Given the description of an element on the screen output the (x, y) to click on. 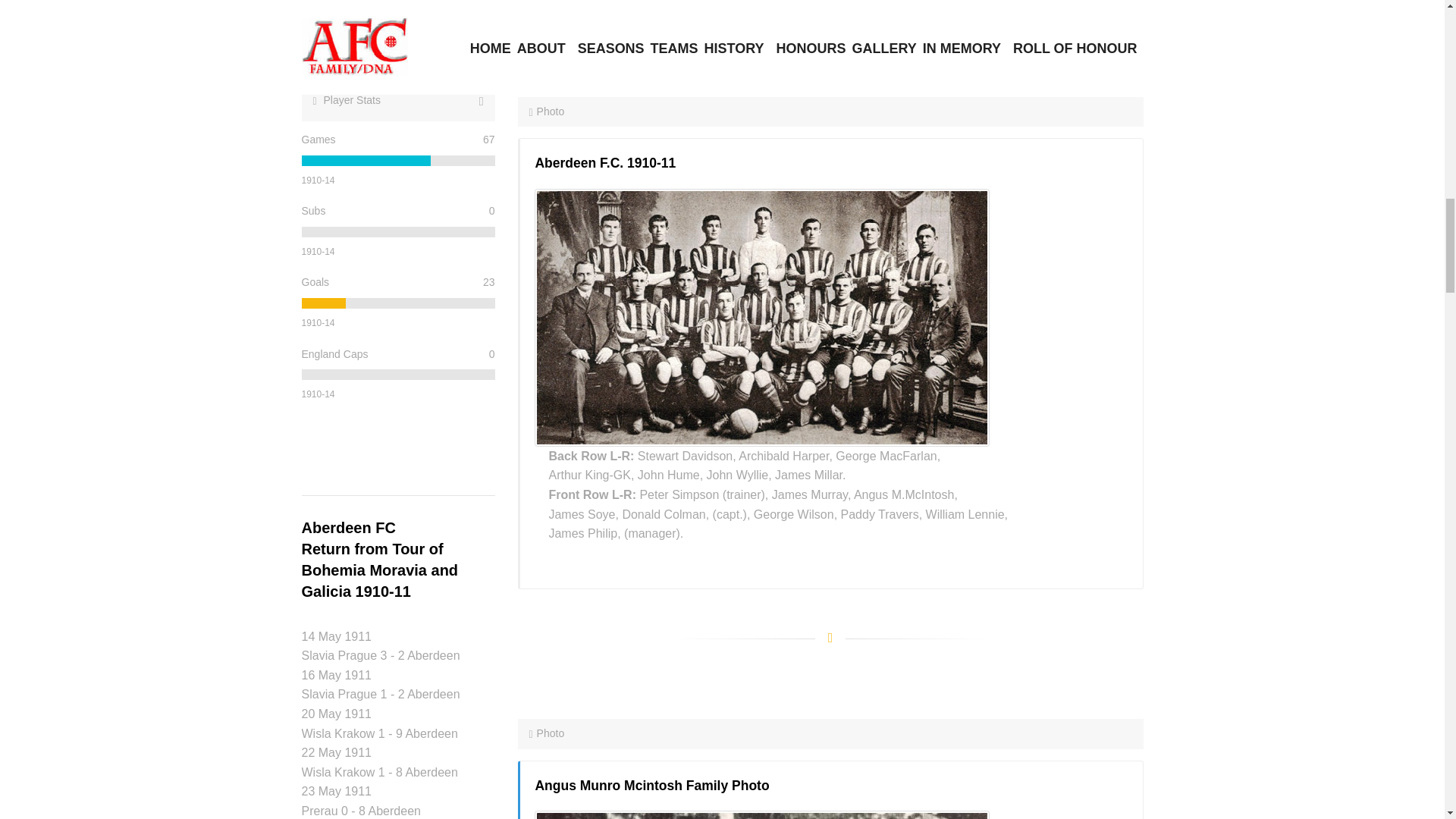
Angus Munro Mcintosh, family photo. (762, 814)
Aberdeen F.C. 1910-11 (762, 317)
